Given the description of an element on the screen output the (x, y) to click on. 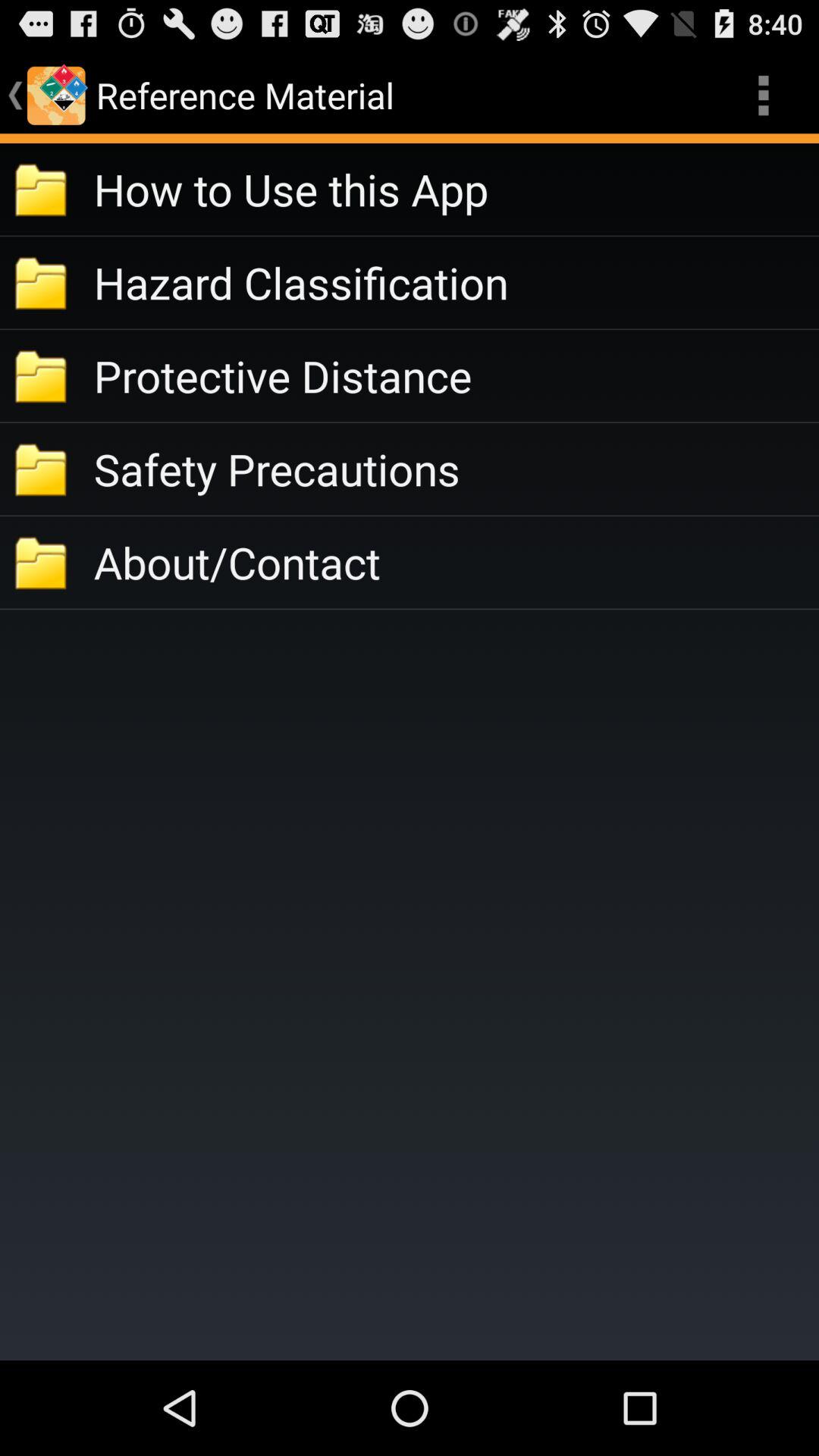
swipe to about/contact icon (456, 562)
